Given the description of an element on the screen output the (x, y) to click on. 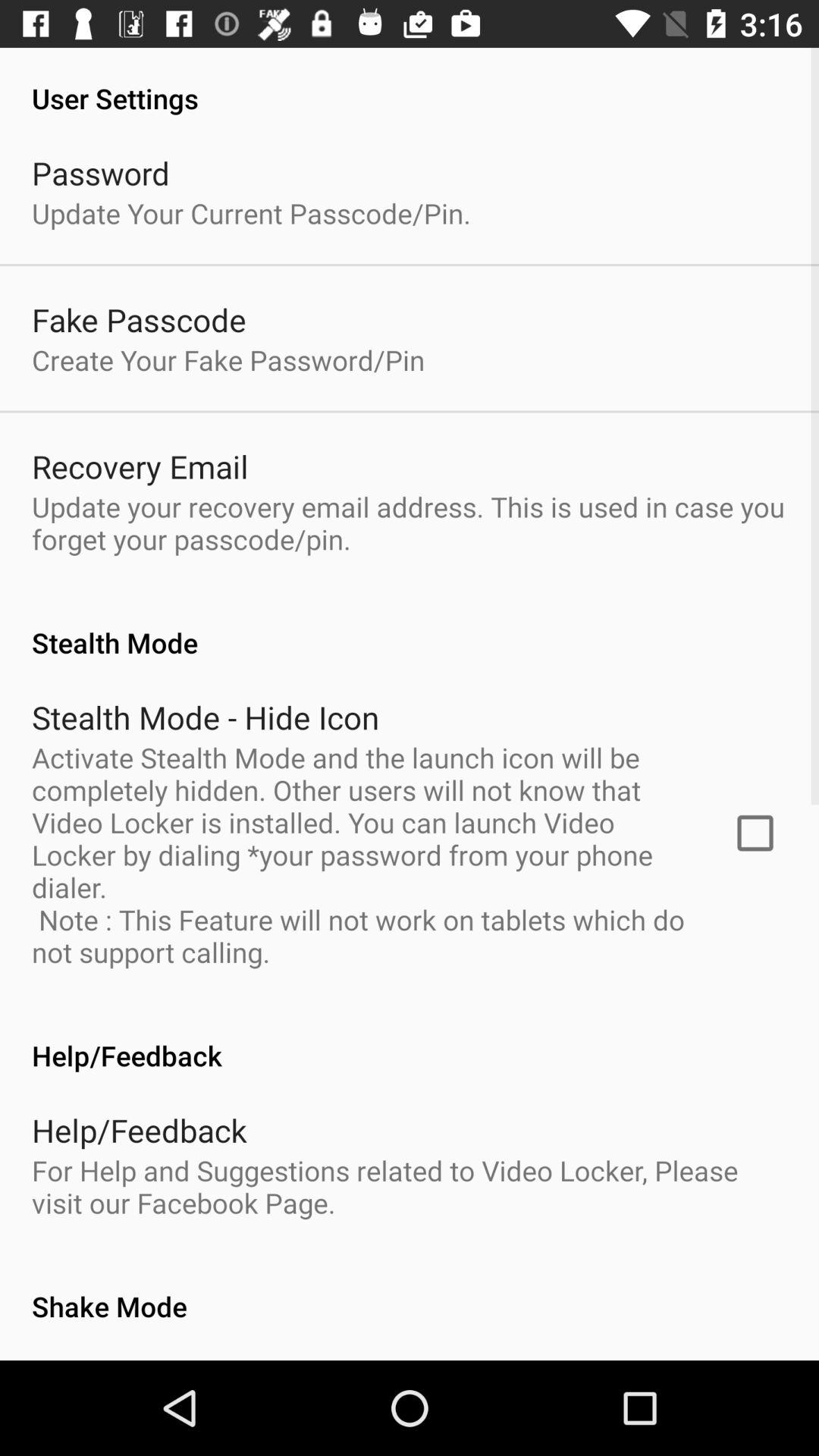
press item to the right of activate stealth mode (755, 833)
